Given the description of an element on the screen output the (x, y) to click on. 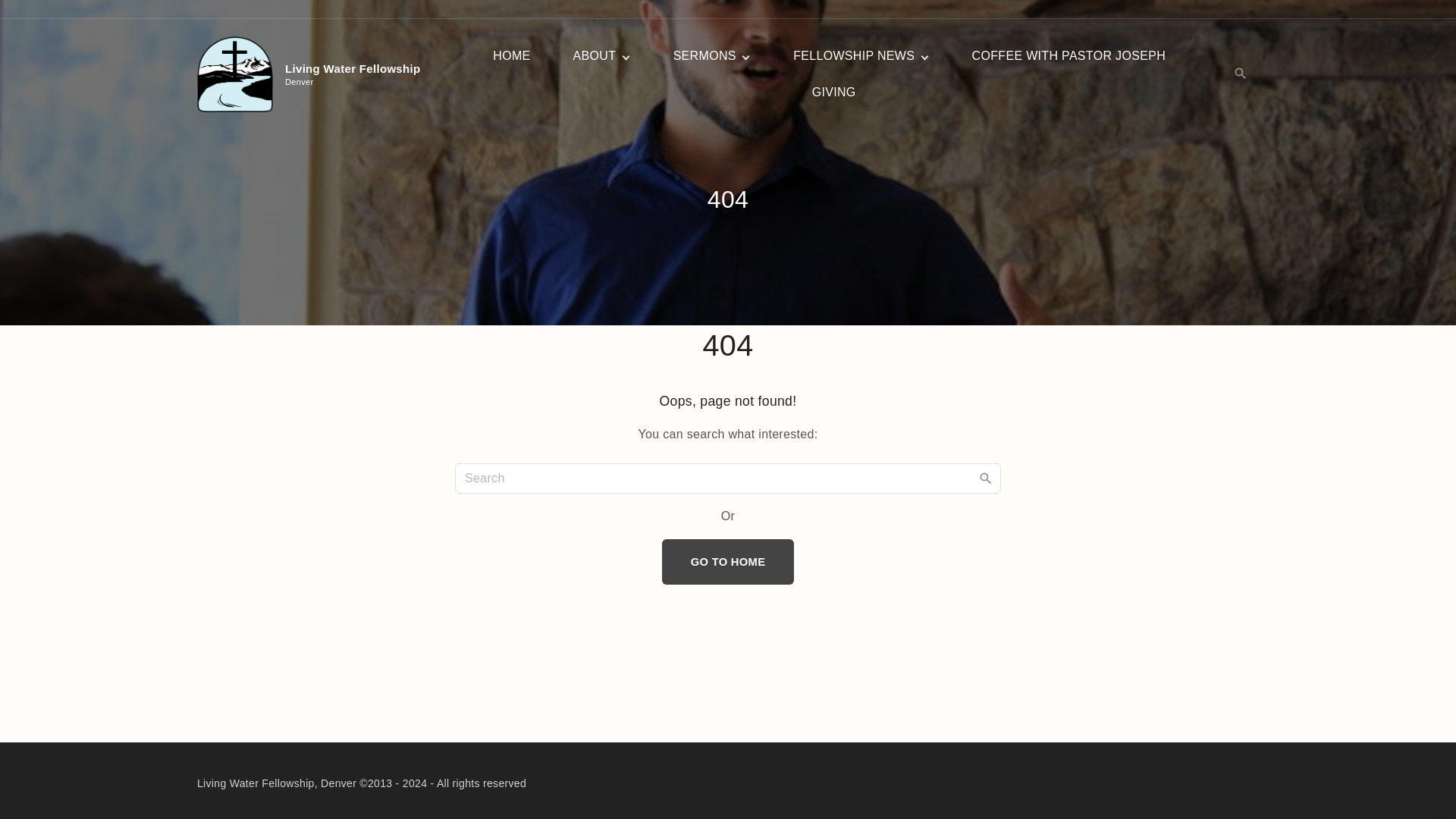
HOME (511, 55)
SEARCH (986, 477)
COFFEE WITH PASTOR JOSEPH (314, 74)
GO TO HOME (1069, 55)
ABOUT (728, 561)
GIVING (595, 55)
FELLOWSHIP NEWS (834, 92)
SERMONS (854, 55)
